Given the description of an element on the screen output the (x, y) to click on. 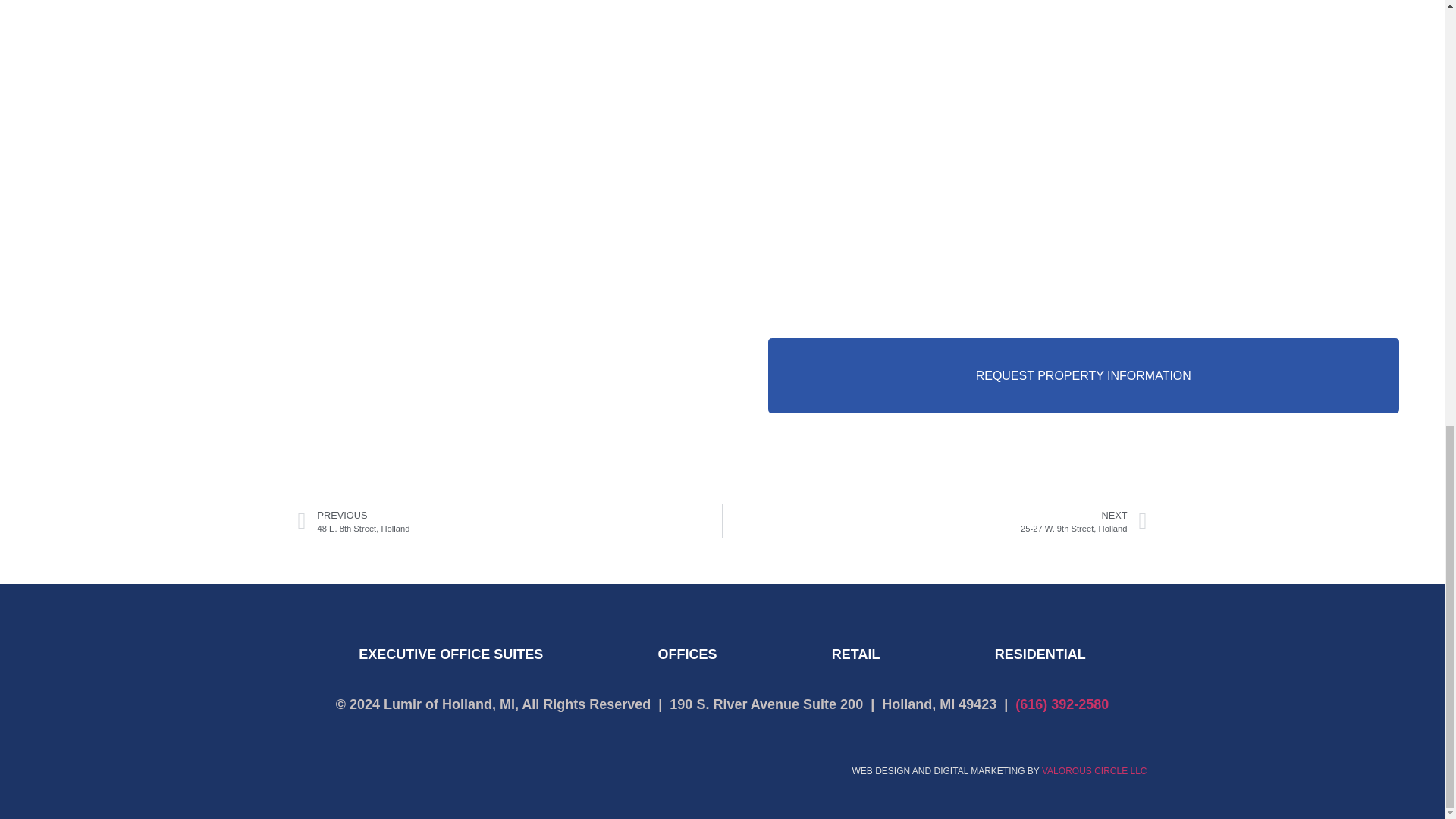
RETAIL (855, 654)
EXECUTIVE OFFICE SUITES (449, 654)
VALOROUS CIRCLE LLC (509, 521)
REQUEST PROPERTY INFORMATION (1094, 770)
37 E. 8th Street, Holland, MI (934, 521)
RESIDENTIAL (1083, 375)
